Given the description of an element on the screen output the (x, y) to click on. 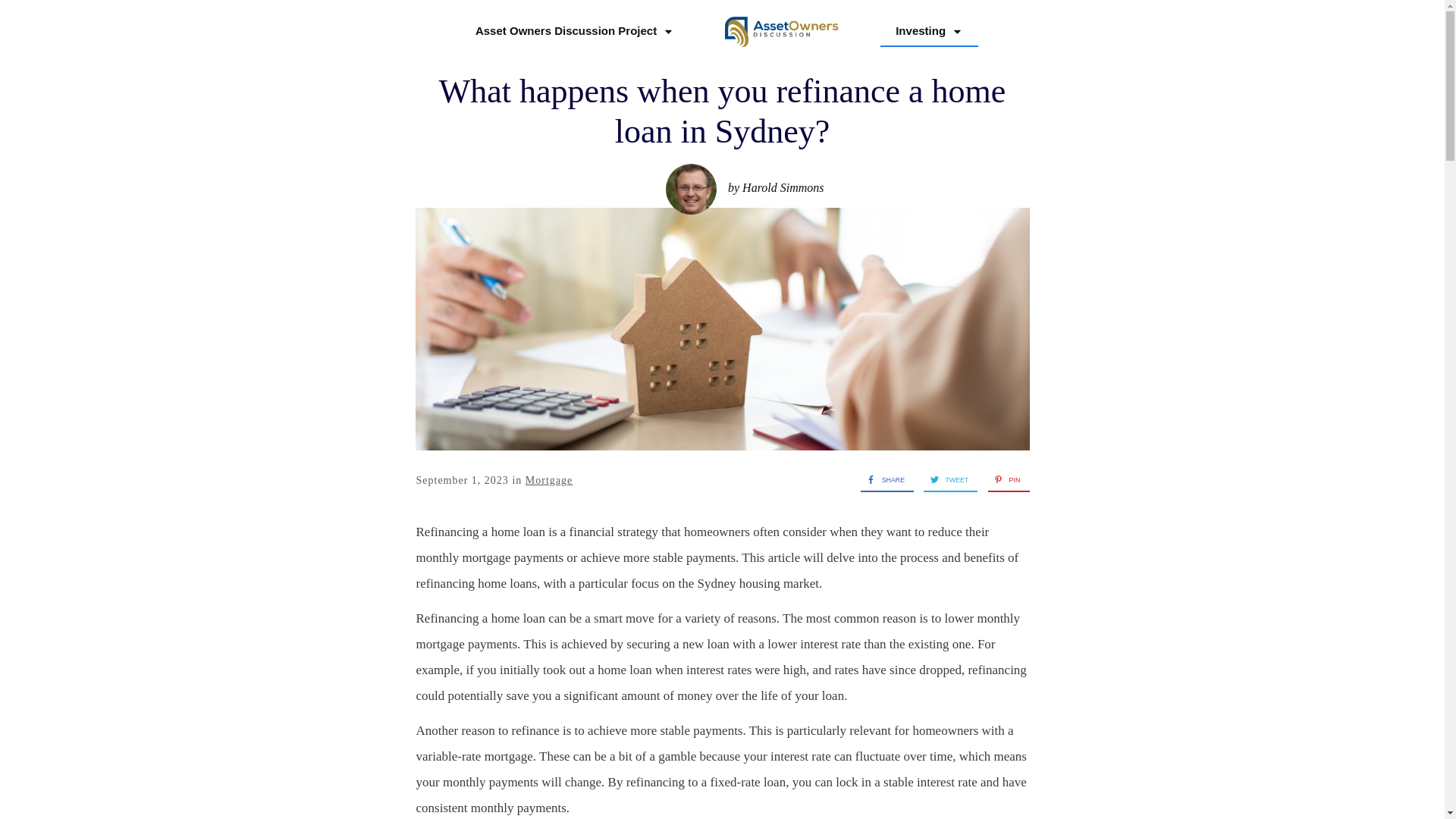
Asset Owners Discussion Project (575, 30)
Investing (928, 30)
Mortgage (548, 480)
Mortgage (548, 480)
Harold Simmons (783, 187)
Harold Simmons (690, 188)
SHARE (882, 479)
TWEET (945, 479)
Harold Simmons (783, 187)
PIN (1004, 479)
